Given the description of an element on the screen output the (x, y) to click on. 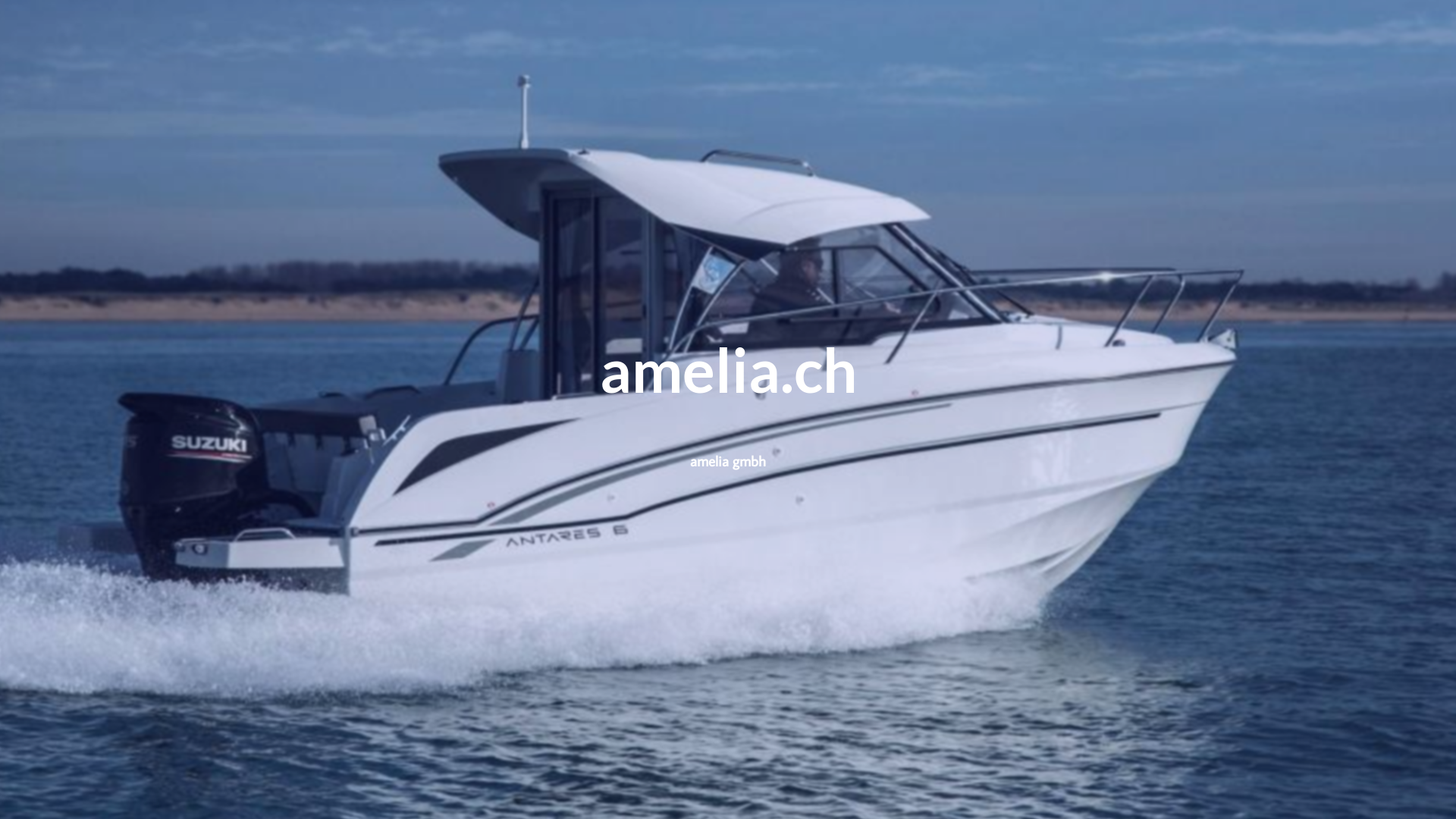
amelia.ch Element type: text (727, 381)
